Given the description of an element on the screen output the (x, y) to click on. 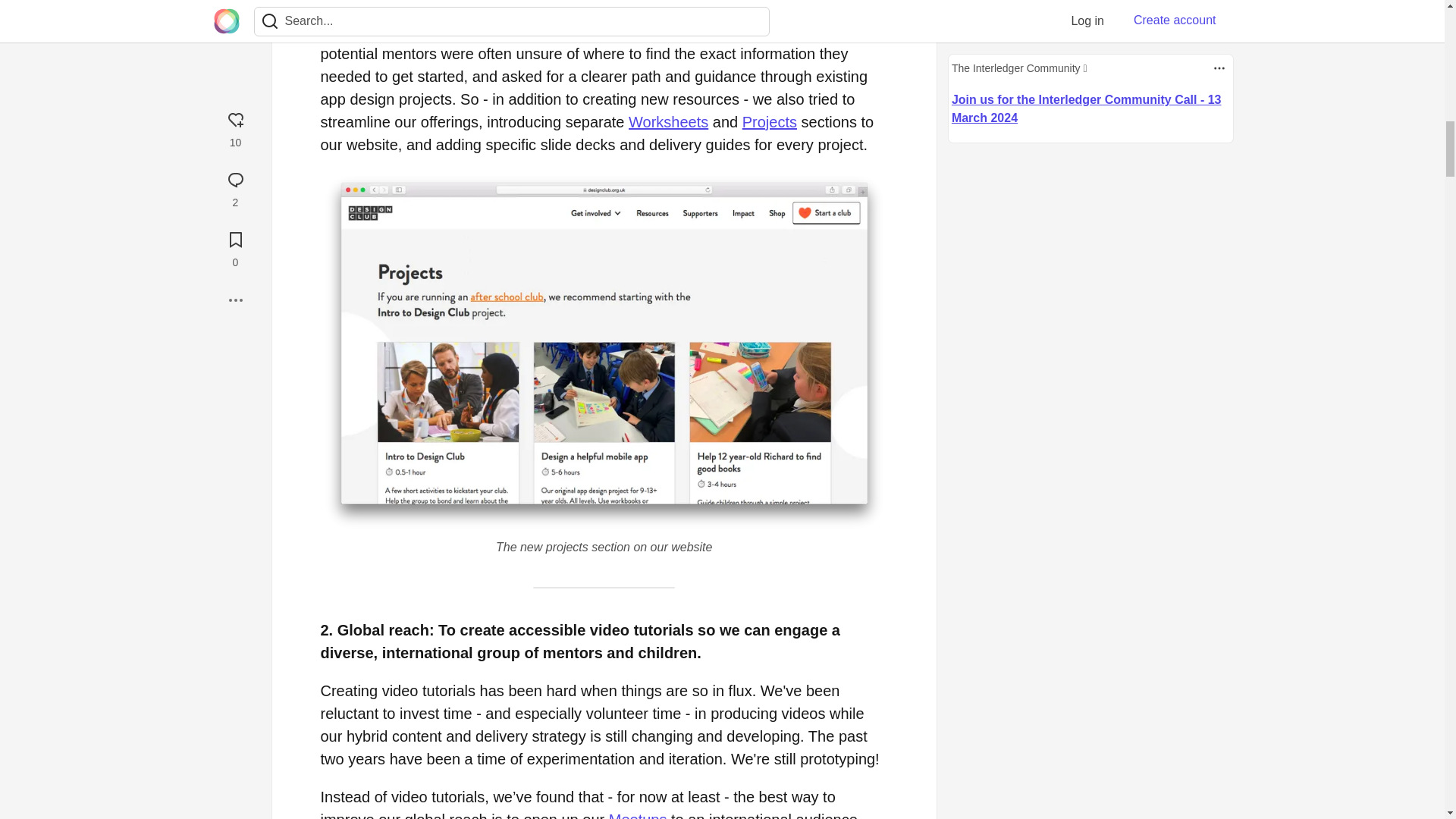
Worksheets (667, 121)
Projects (769, 121)
first Grant Report (517, 8)
